Given the description of an element on the screen output the (x, y) to click on. 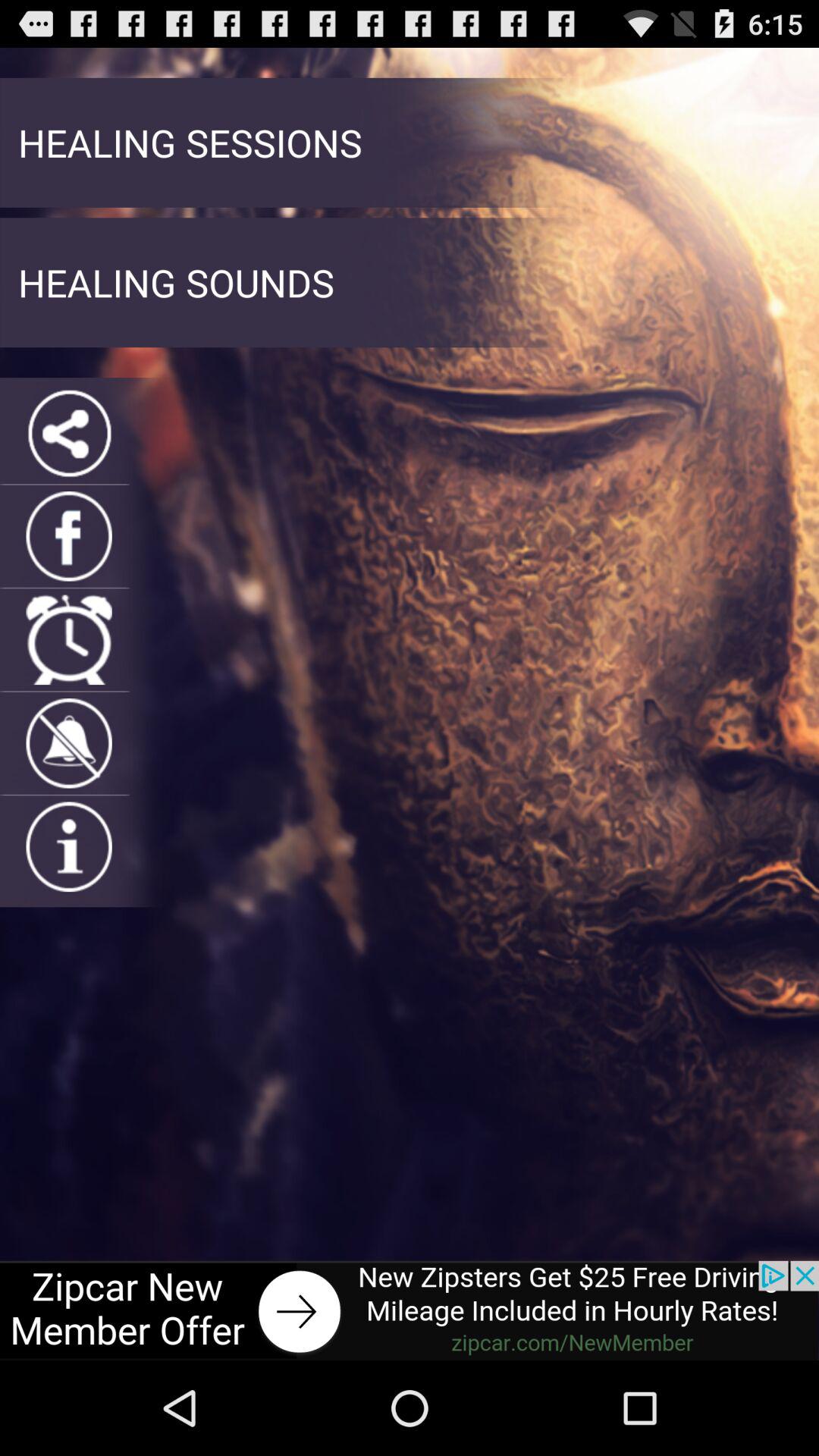
mute (69, 743)
